Given the description of an element on the screen output the (x, y) to click on. 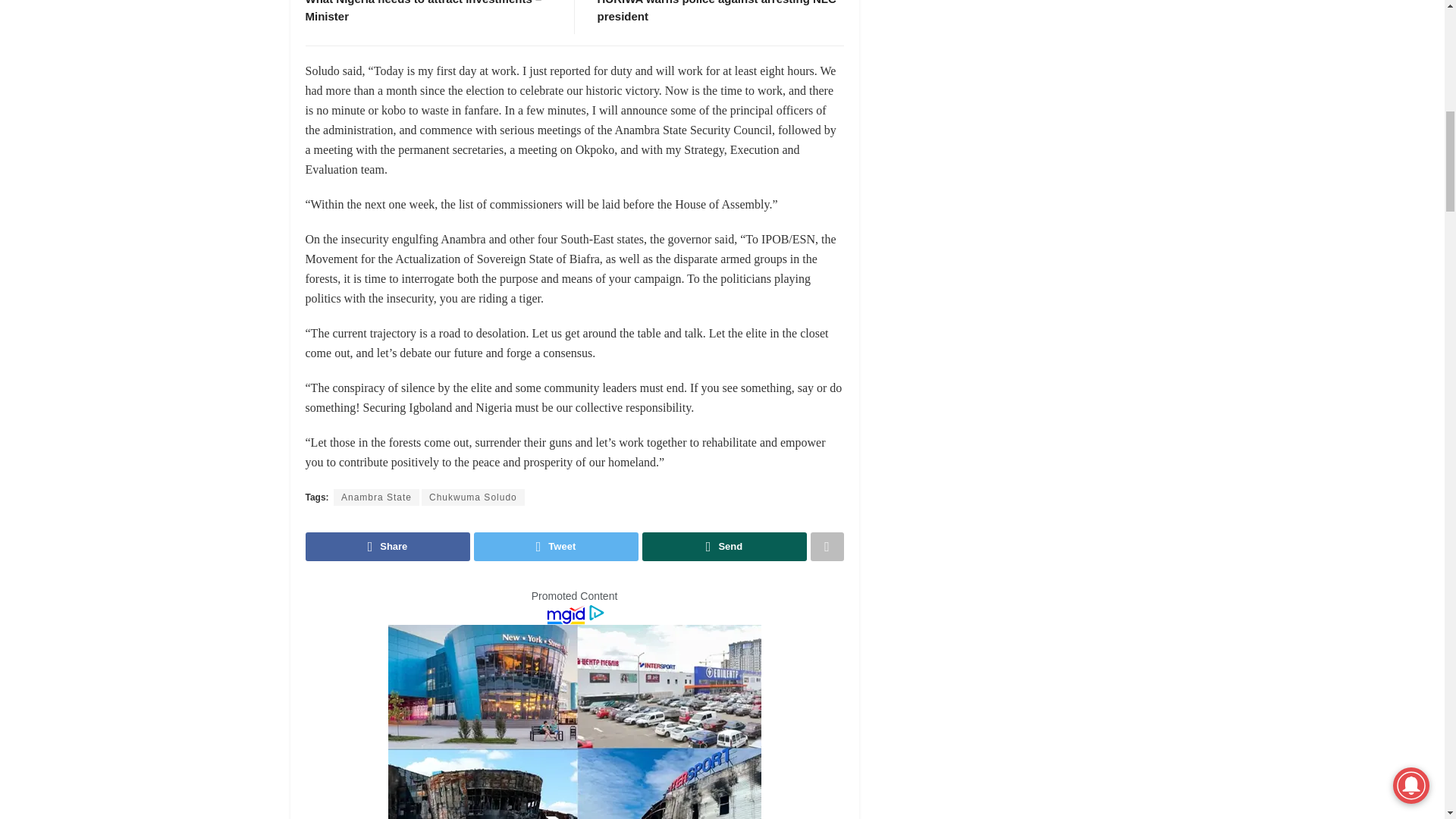
Anambra State (376, 497)
Share (386, 546)
Chukwuma Soludo (473, 497)
HURIWA warns police against arresting NLC president (715, 11)
Send (724, 546)
Tweet (555, 546)
